Given the description of an element on the screen output the (x, y) to click on. 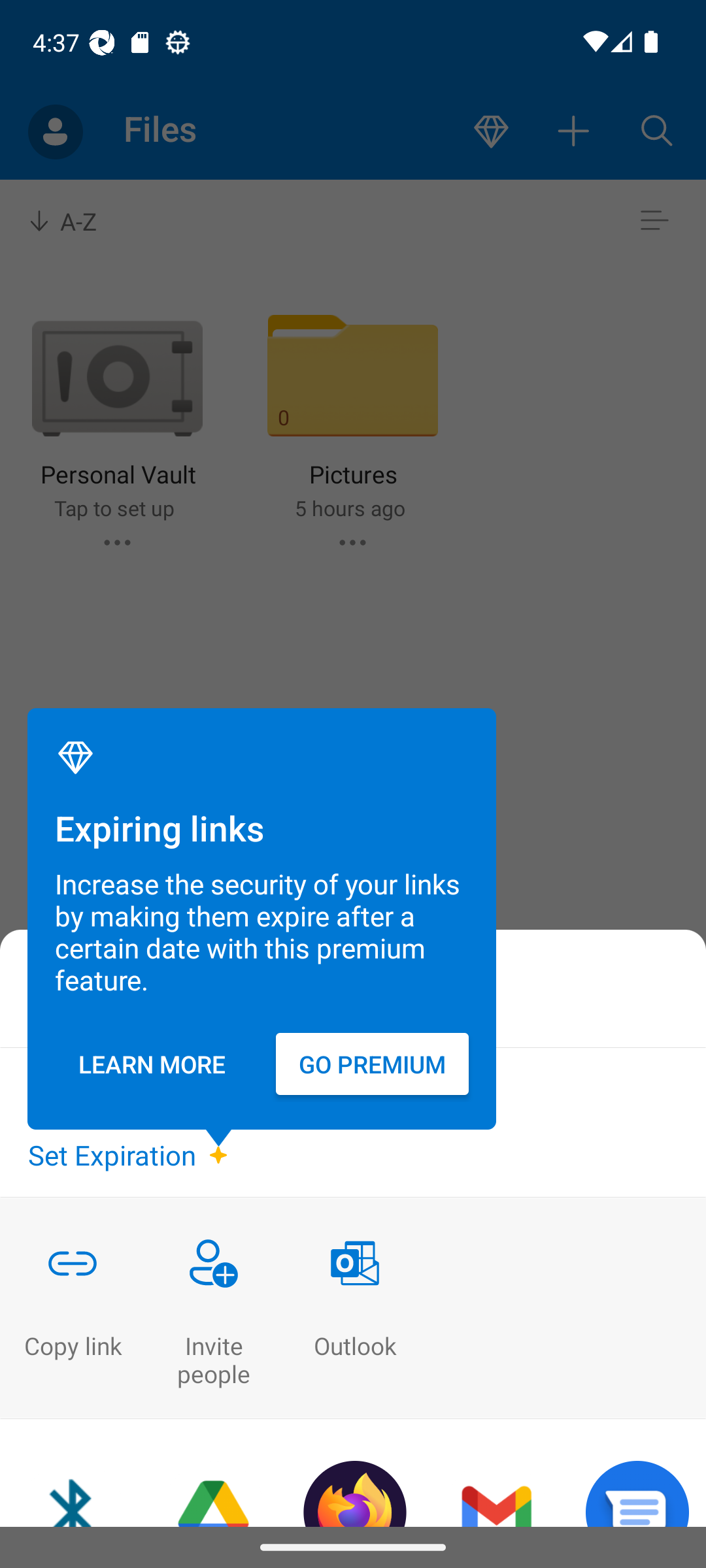
LEARN MORE Learn more (151, 1063)
GO PREMIUM Go premium (372, 1063)
